Given the description of an element on the screen output the (x, y) to click on. 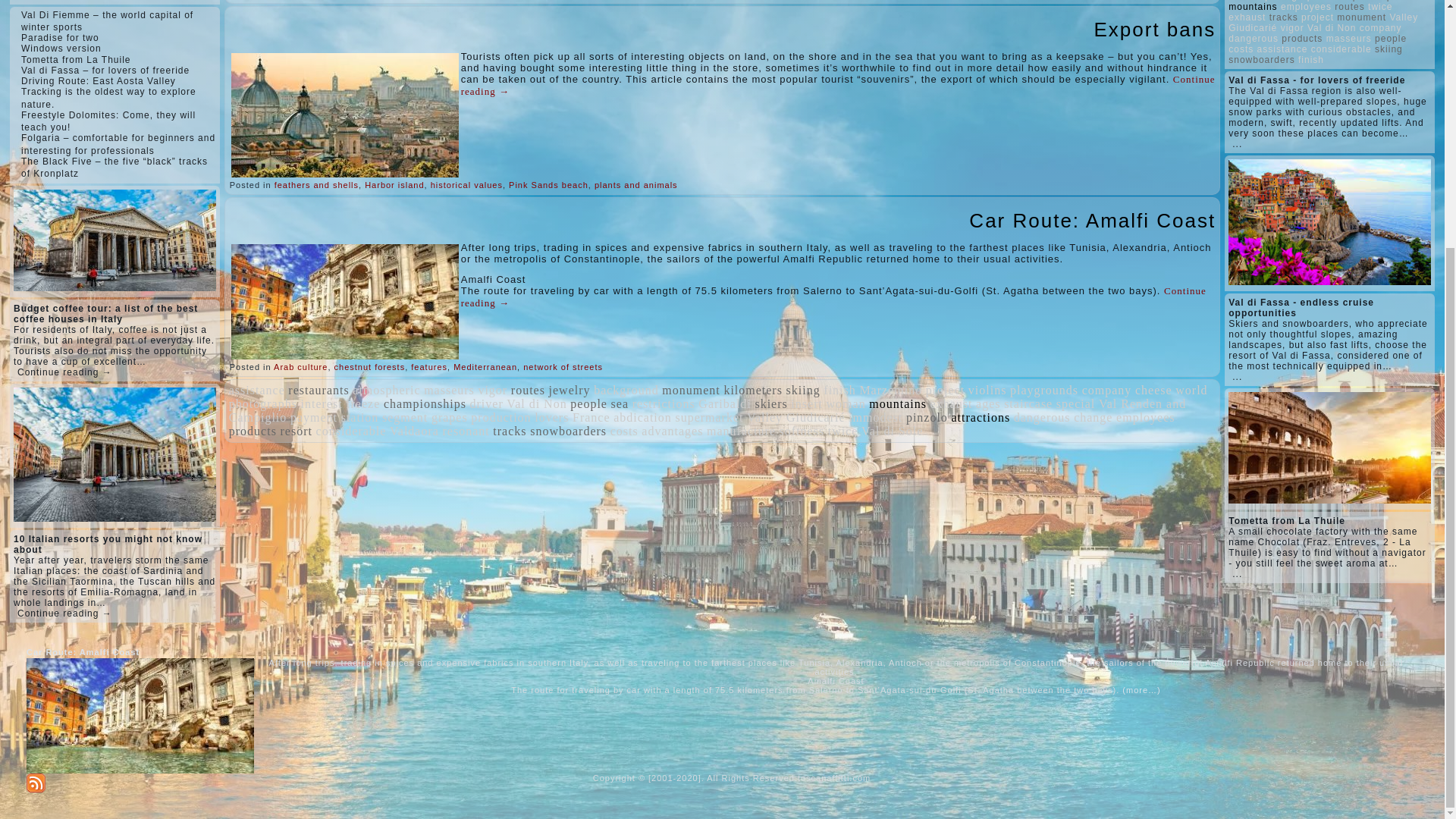
plants and animals (636, 184)
Tometta from La Thuile (76, 59)
Harbor island (394, 184)
Windows version (61, 48)
Windows version (61, 48)
Tometta from La Thuile (76, 59)
Car Route: Amalfi Coast (1092, 220)
Paradise for two (60, 37)
Pink Sands beach (548, 184)
Tracking is the oldest way to explore nature. (108, 97)
